Given the description of an element on the screen output the (x, y) to click on. 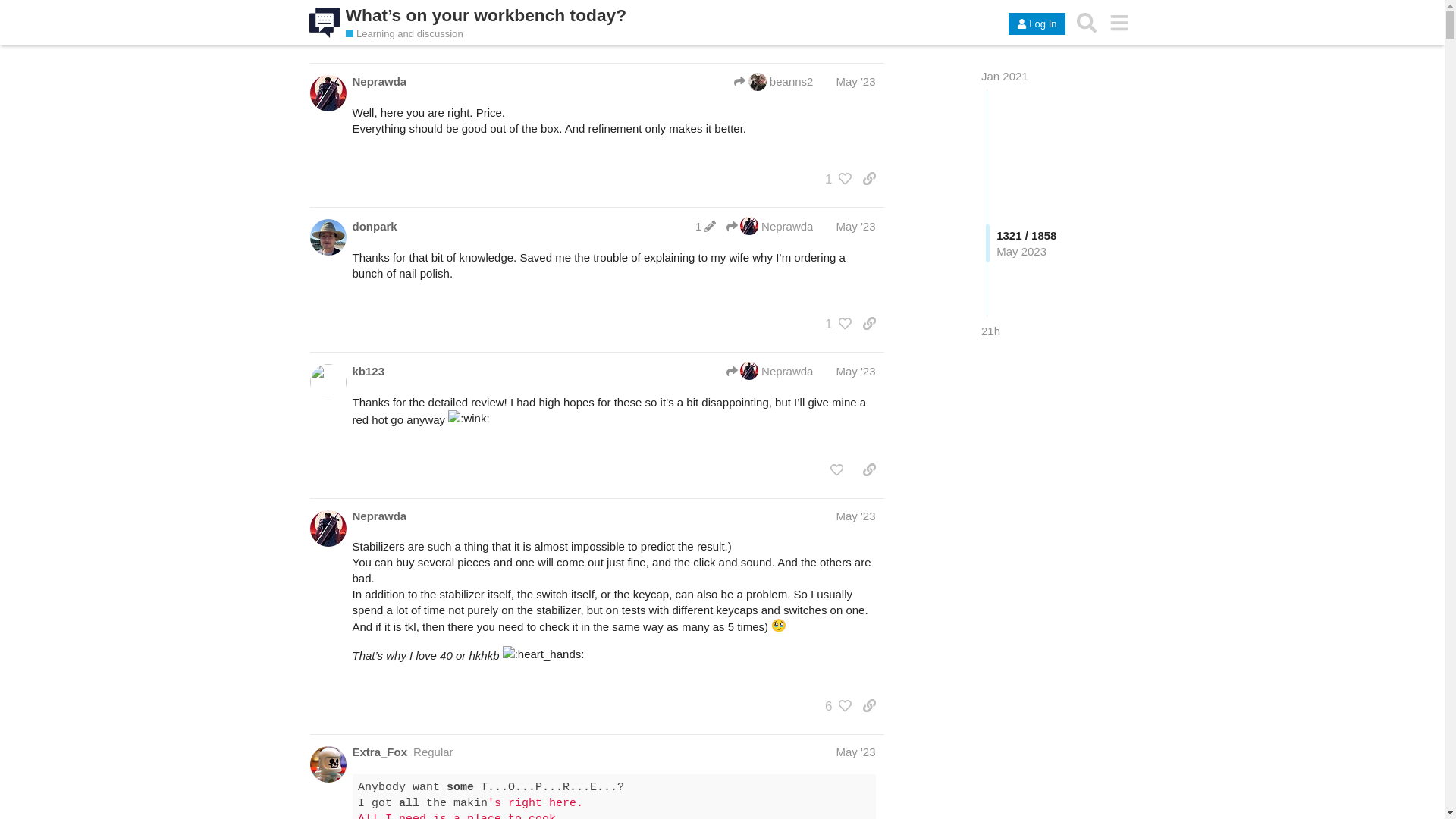
Post date (855, 226)
Search (1086, 22)
Learning and discussion (404, 33)
1 (833, 323)
Load parent post (772, 81)
May '23 (855, 751)
May '23 (855, 515)
Neprawda (769, 370)
May '23 (855, 370)
Neprawda (379, 81)
Jan 2021 (1004, 75)
6 (833, 705)
Post date (855, 81)
post last edited on May 14, 2023 5:48 am (705, 226)
beanns2 (772, 81)
